Given the description of an element on the screen output the (x, y) to click on. 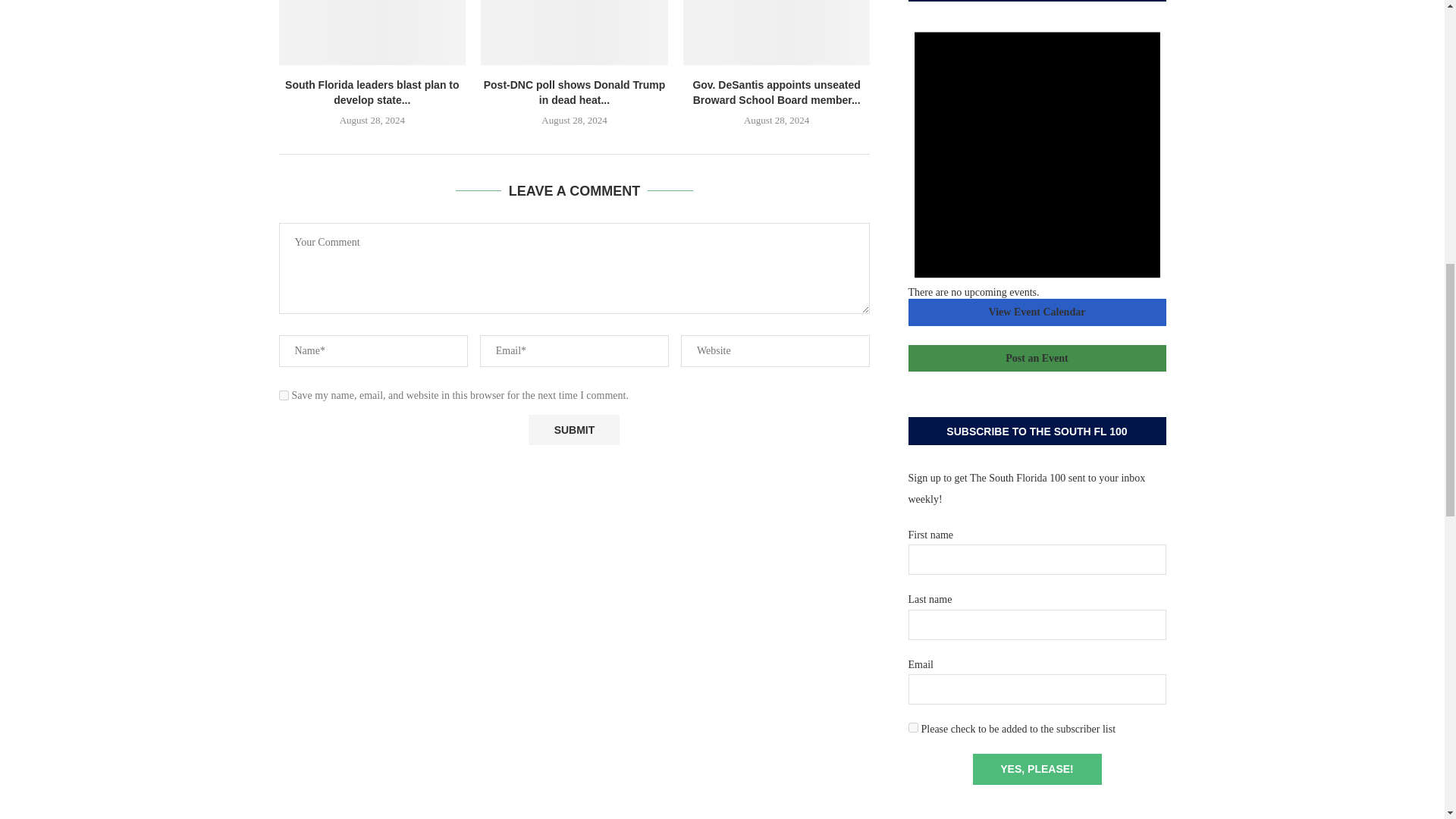
YES, PLEASE! (1036, 768)
yes (283, 395)
1 (913, 727)
Submit (574, 429)
